Given the description of an element on the screen output the (x, y) to click on. 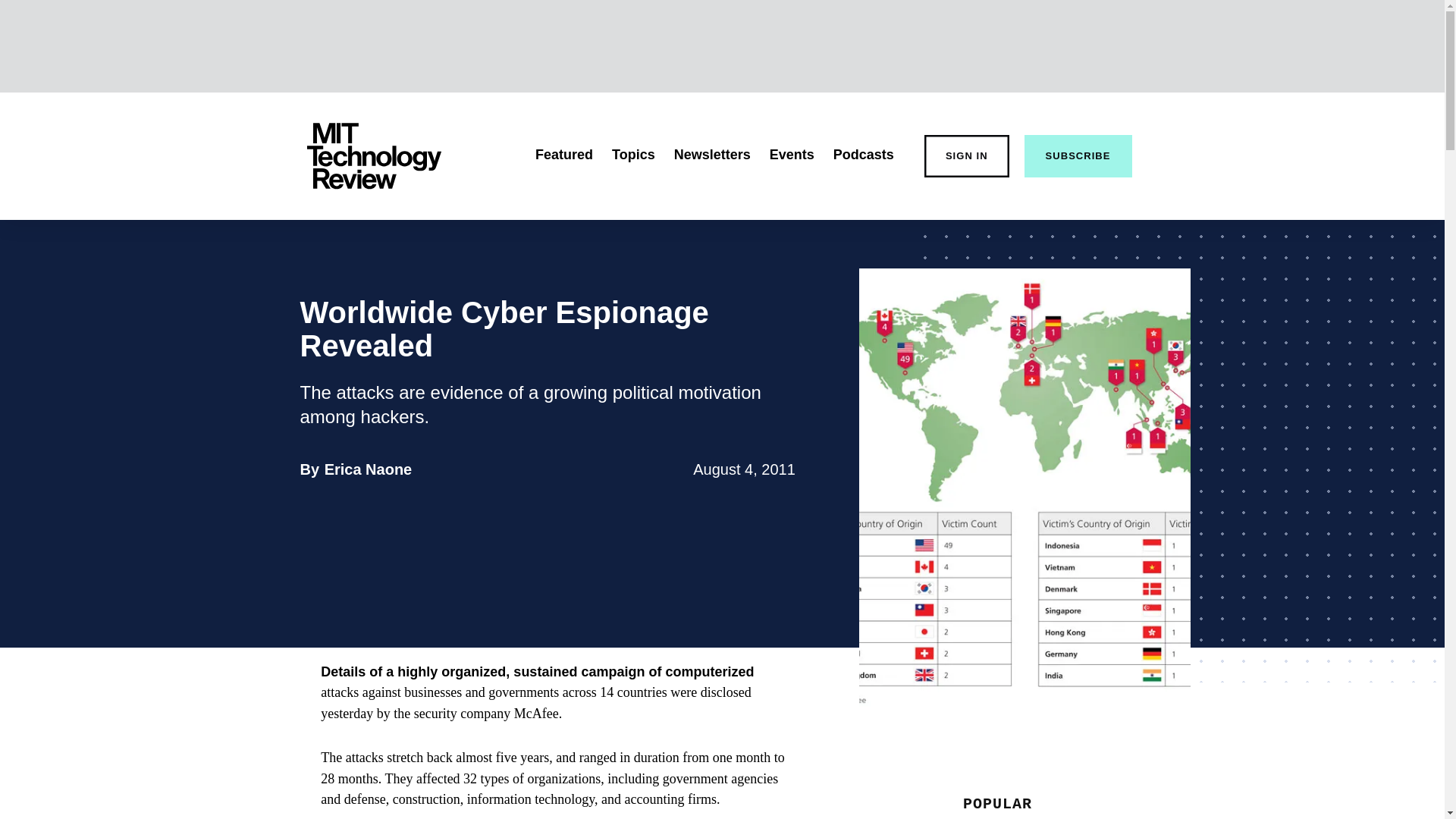
MIT Technology Review (373, 155)
Featured (563, 154)
Events (791, 154)
Newsletters (712, 154)
Topics (368, 469)
SIGN IN (633, 154)
Podcasts (966, 156)
SUBSCRIBE (862, 154)
